Given the description of an element on the screen output the (x, y) to click on. 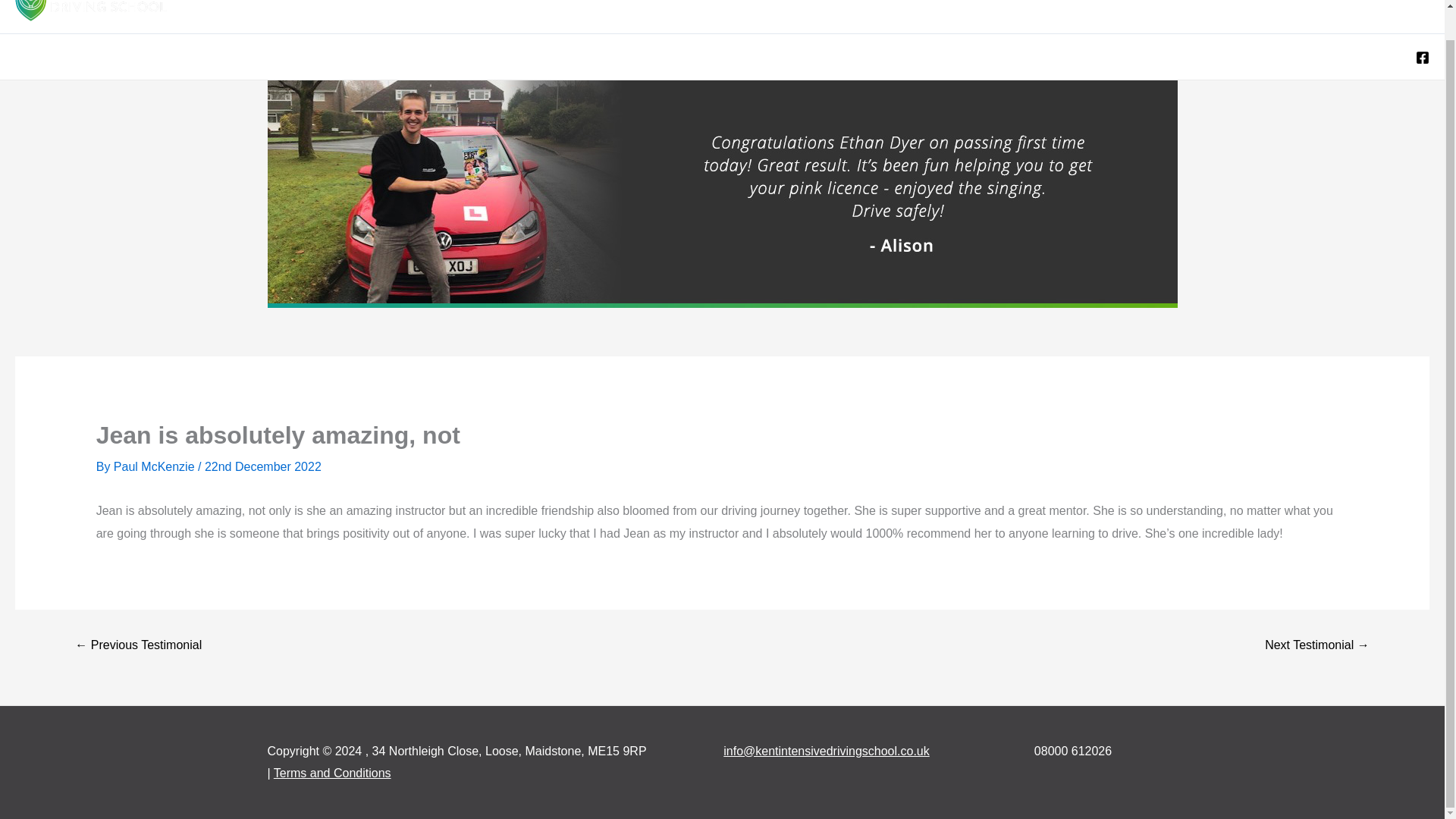
View all posts by Paul McKenzie (155, 466)
Tests (1024, 11)
Areas Covered (676, 11)
Home (588, 11)
Alison is a very experienced (137, 645)
Contact Us (1387, 11)
Instructor Training (1118, 11)
My instructor was Alison, with (1316, 645)
Testimonials (1225, 11)
